Given the description of an element on the screen output the (x, y) to click on. 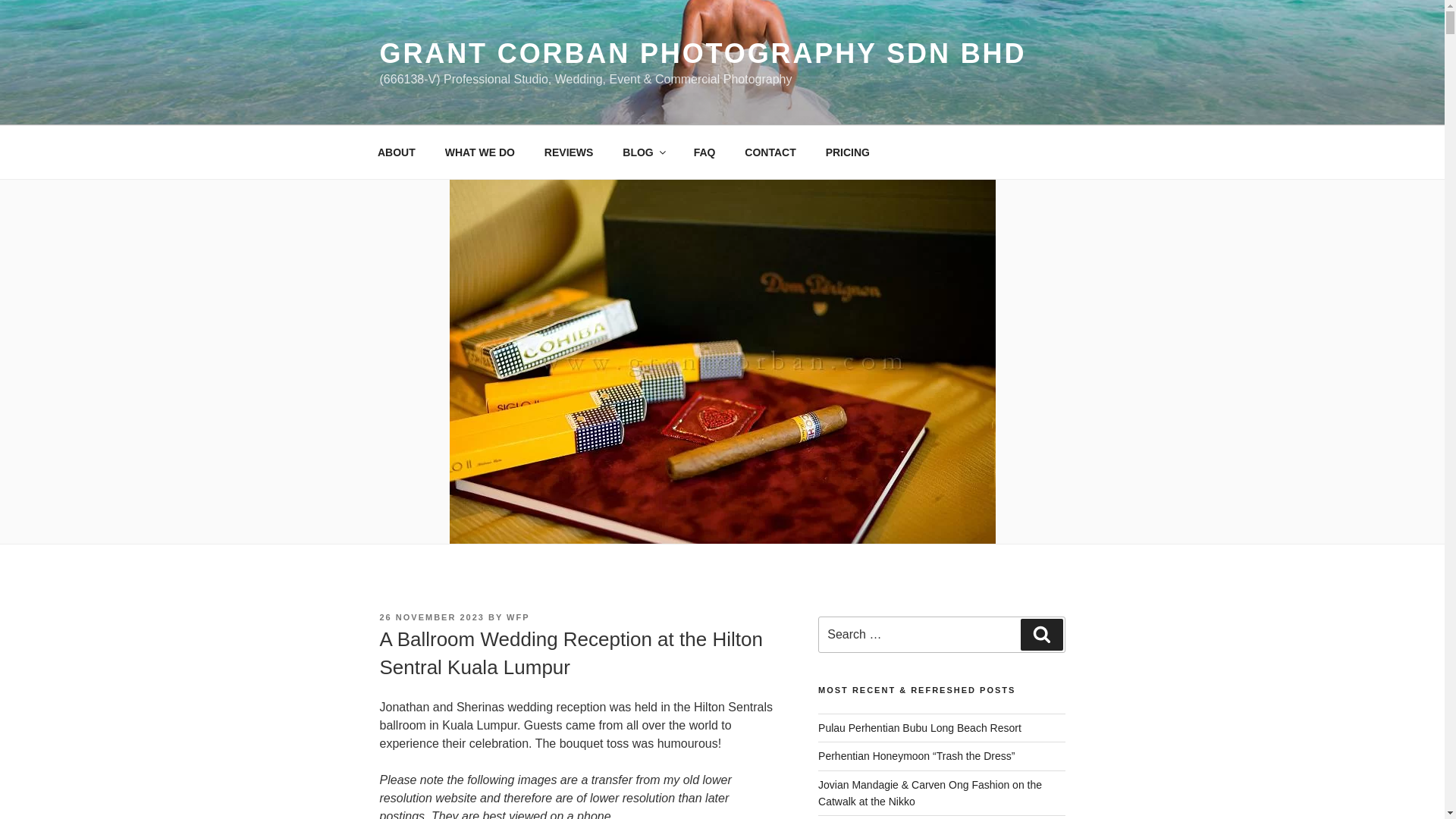
PRICING (847, 151)
CONTACT (770, 151)
WFP (517, 616)
FAQ (704, 151)
BLOG (643, 151)
Search (1041, 634)
REVIEWS (569, 151)
GRANT CORBAN PHOTOGRAPHY SDN BHD (702, 52)
Pulau Perhentian Bubu Long Beach Resort (920, 727)
WHAT WE DO (478, 151)
26 NOVEMBER 2023 (430, 616)
ABOUT (396, 151)
